Given the description of an element on the screen output the (x, y) to click on. 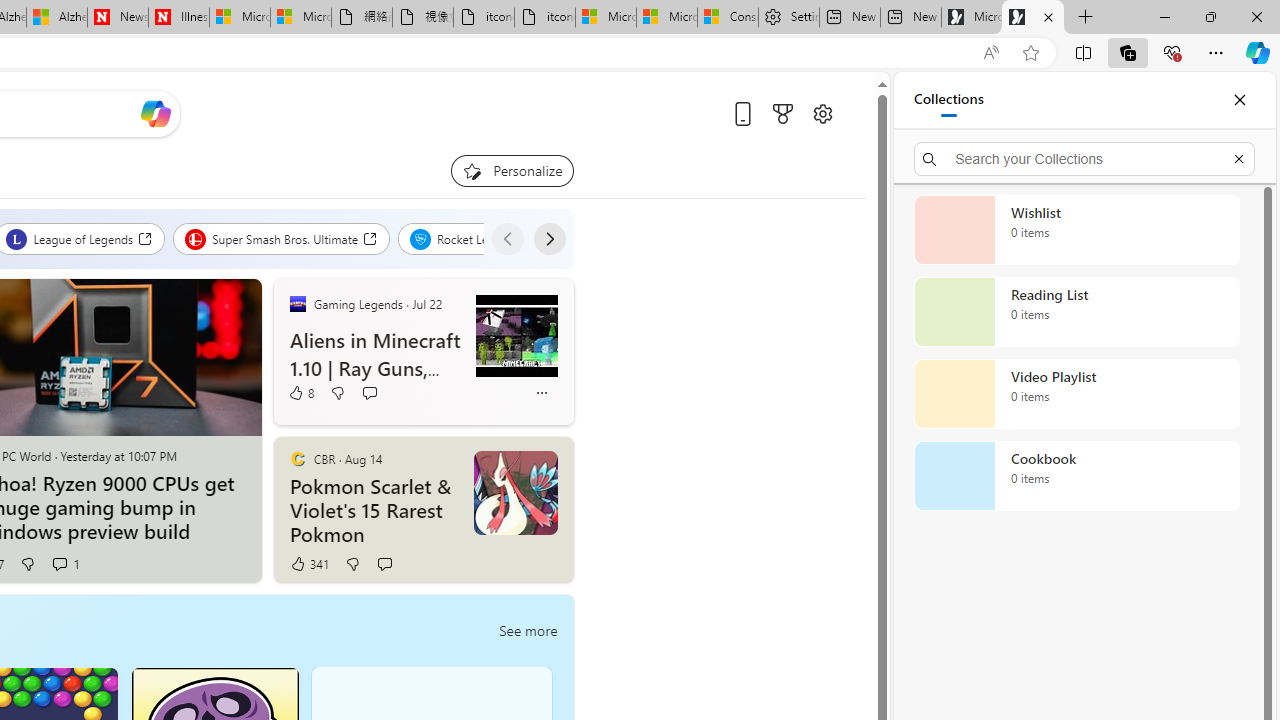
Exit search (1238, 158)
CBR (297, 458)
Illness news & latest pictures from Newsweek.com (178, 17)
